Given the description of an element on the screen output the (x, y) to click on. 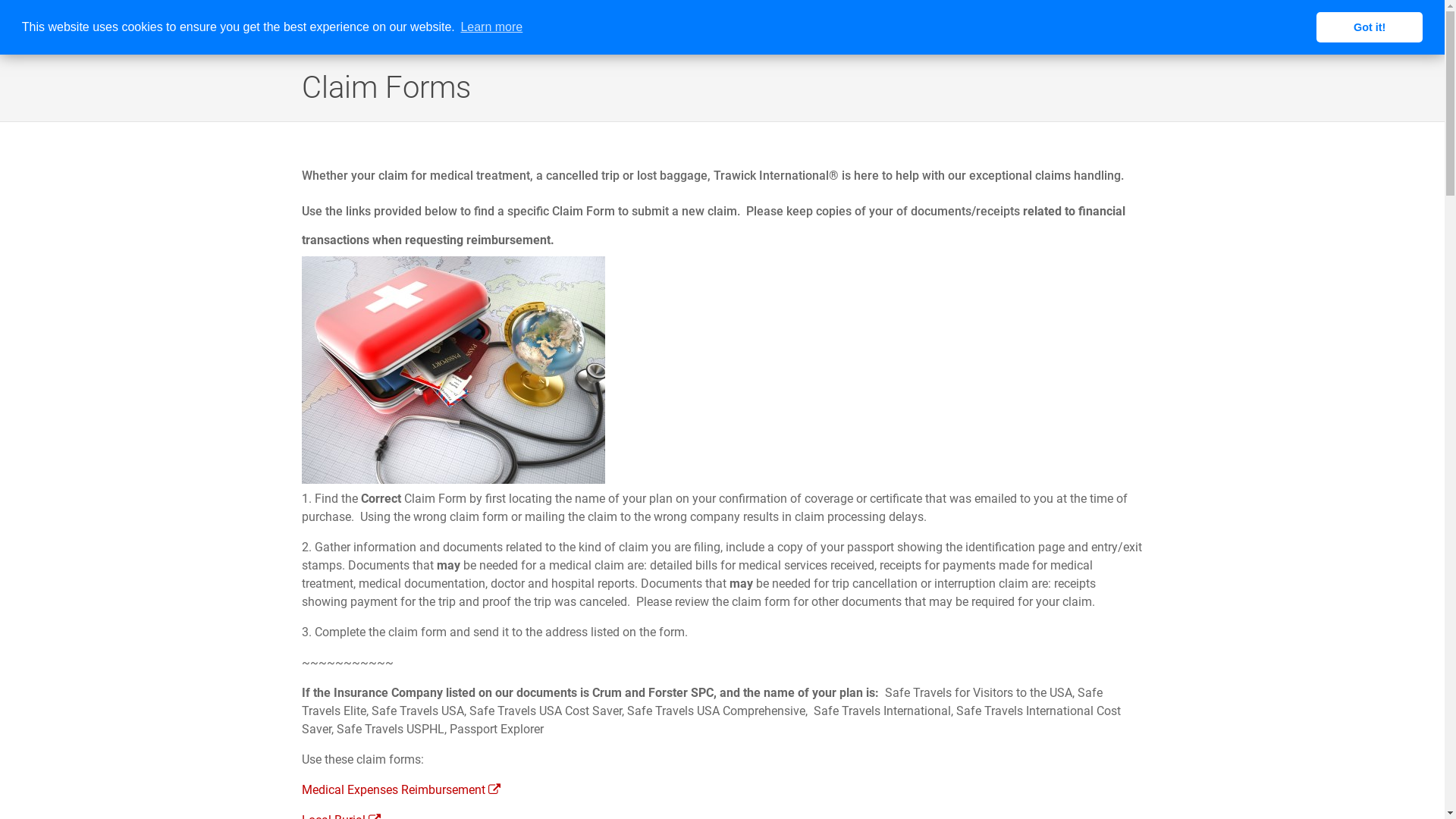
Got it! Element type: text (1369, 27)
Claim Information Element type: text (1278, 27)
About Us Element type: text (731, 27)
Medical Expenses Reimbursement  Element type: text (400, 789)
Travel Info Element type: text (1186, 27)
Student Insurance & Study Abroad Element type: text (992, 27)
Contact Us Element type: text (1365, 27)
Partners Element type: text (1118, 27)
Learn more Element type: text (491, 26)
Travel Insurance Plans Element type: text (830, 27)
Blog Element type: text (1415, 27)
